Given the description of an element on the screen output the (x, y) to click on. 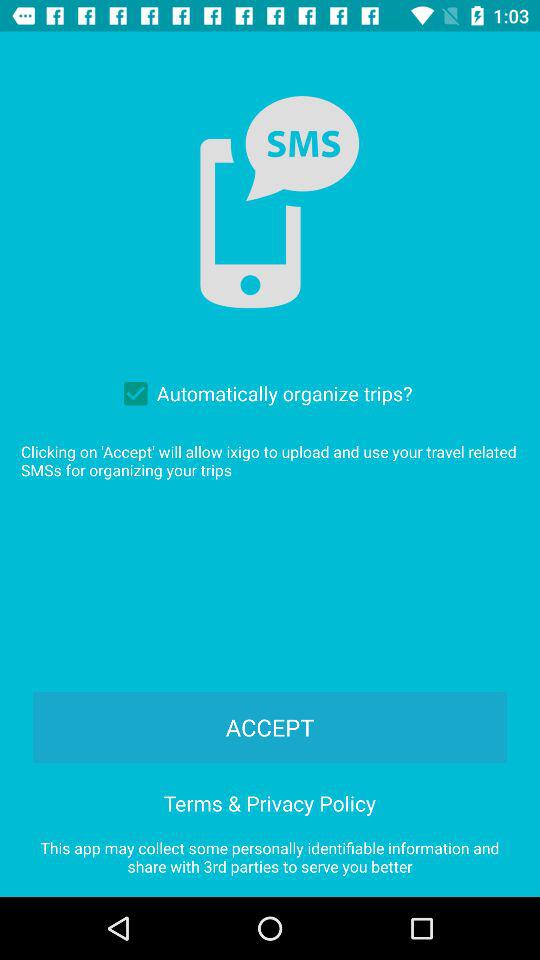
select item below the accept item (270, 799)
